Given the description of an element on the screen output the (x, y) to click on. 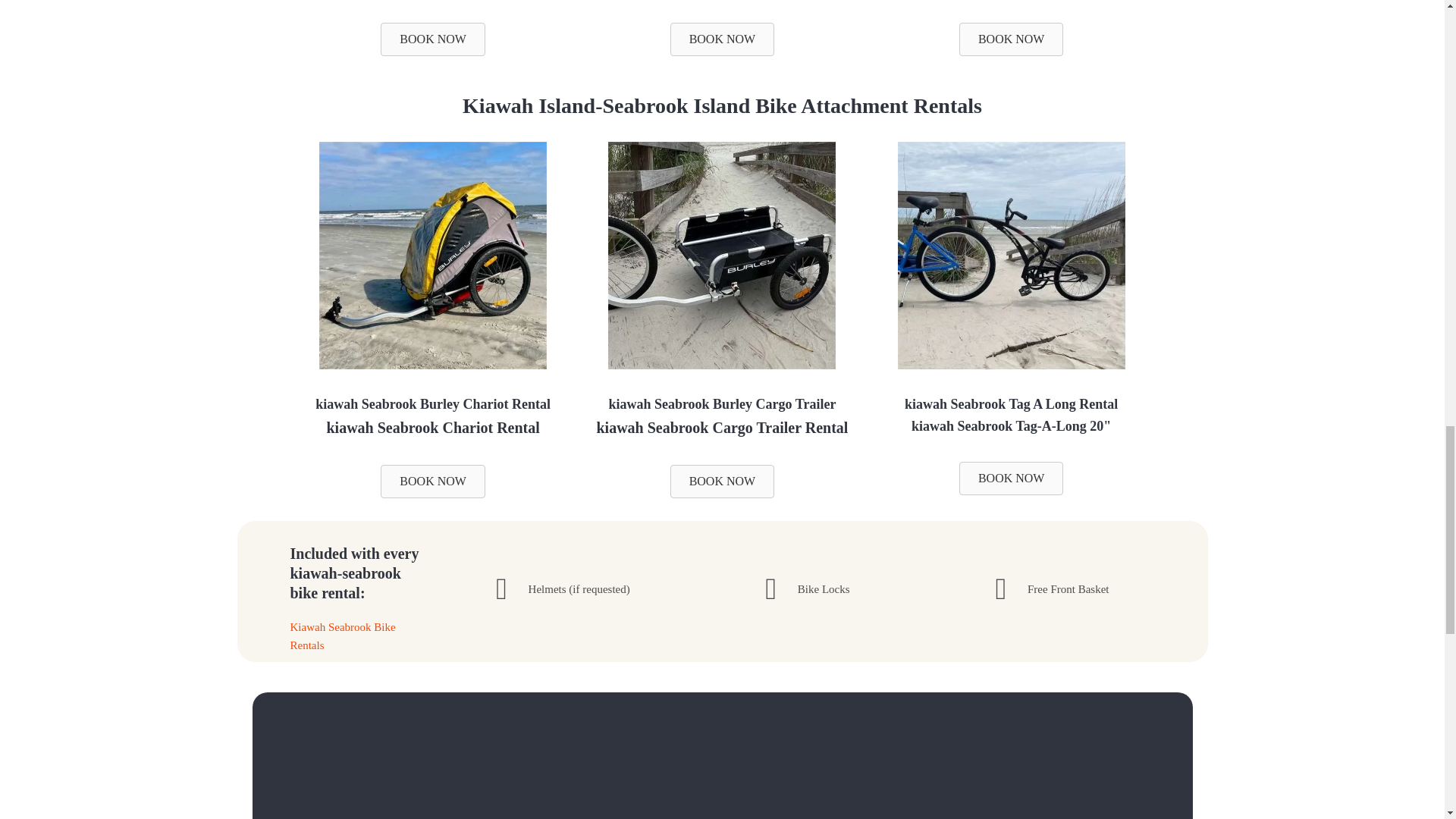
Kids Chariot Rental Kiawah Seabrook Bike Rentals (432, 365)
chariot-kiawah-seabrook-bike-rental (432, 255)
BOOK NOW (432, 39)
